Given the description of an element on the screen output the (x, y) to click on. 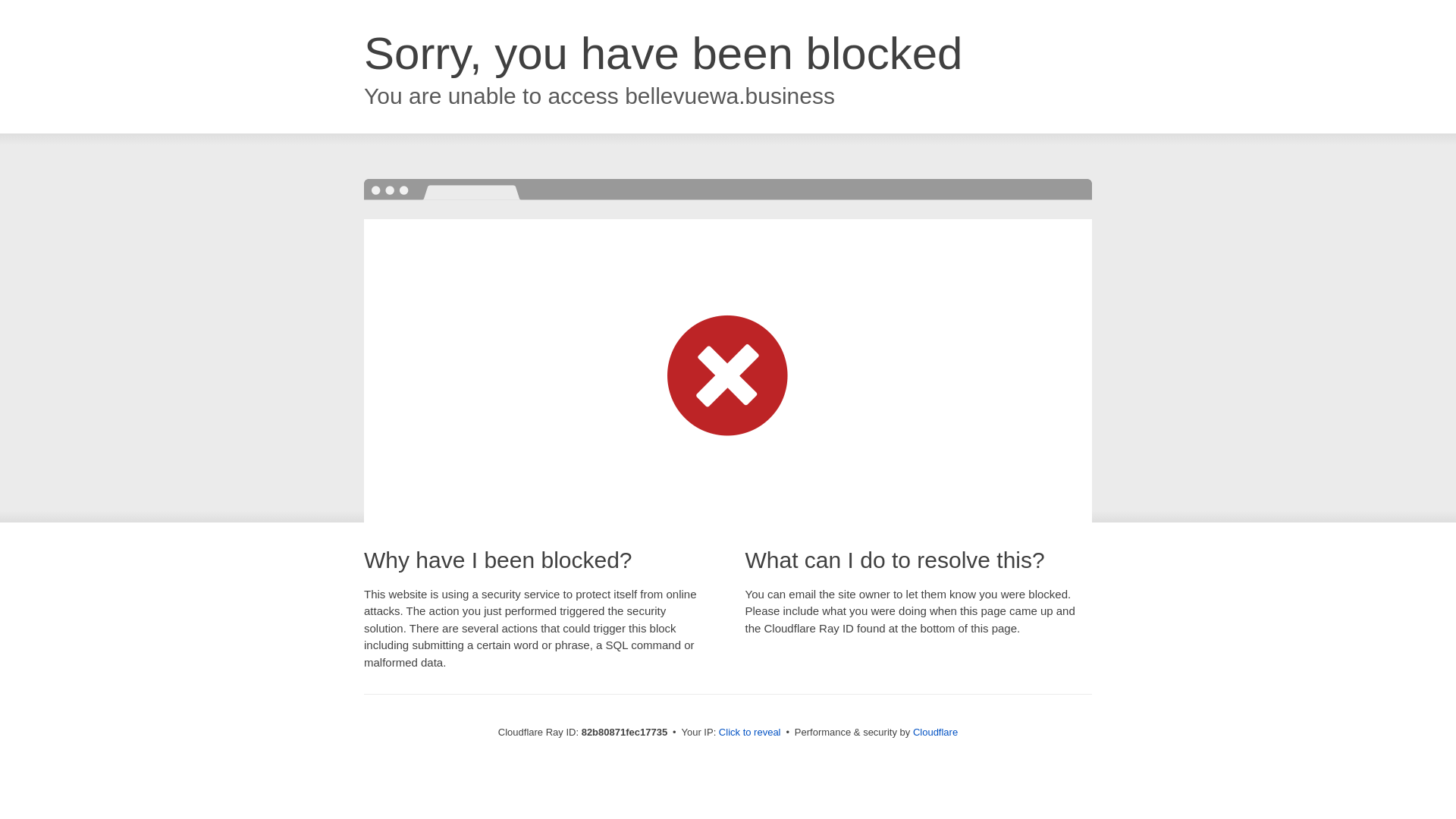
Click to reveal Element type: text (749, 732)
Cloudflare Element type: text (935, 731)
